Given the description of an element on the screen output the (x, y) to click on. 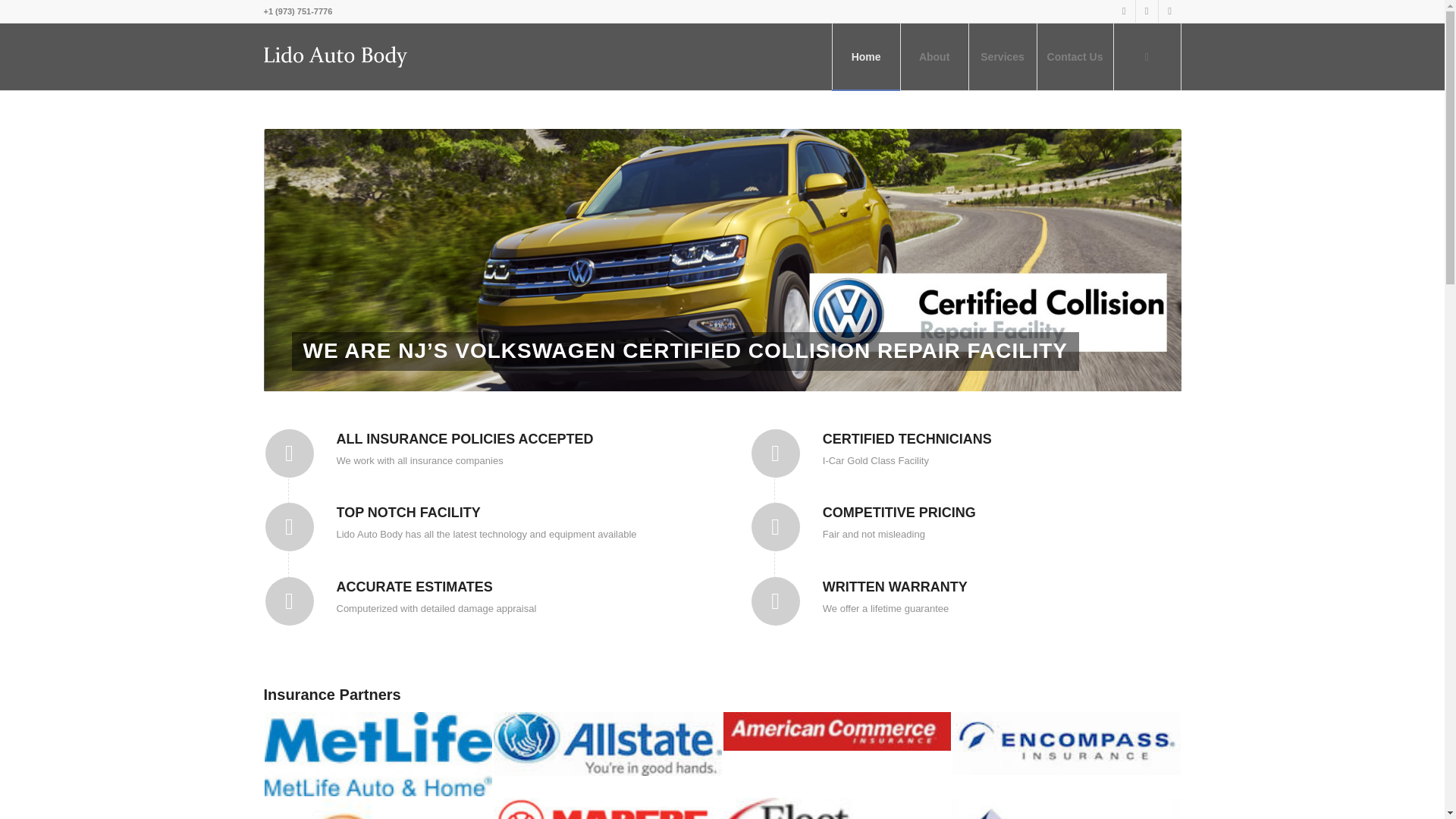
Services (1002, 56)
Contact Us (1074, 56)
About (933, 56)
Home (865, 56)
Facebook (1124, 11)
Twitter (1146, 11)
Instagram (1169, 11)
